Given the description of an element on the screen output the (x, y) to click on. 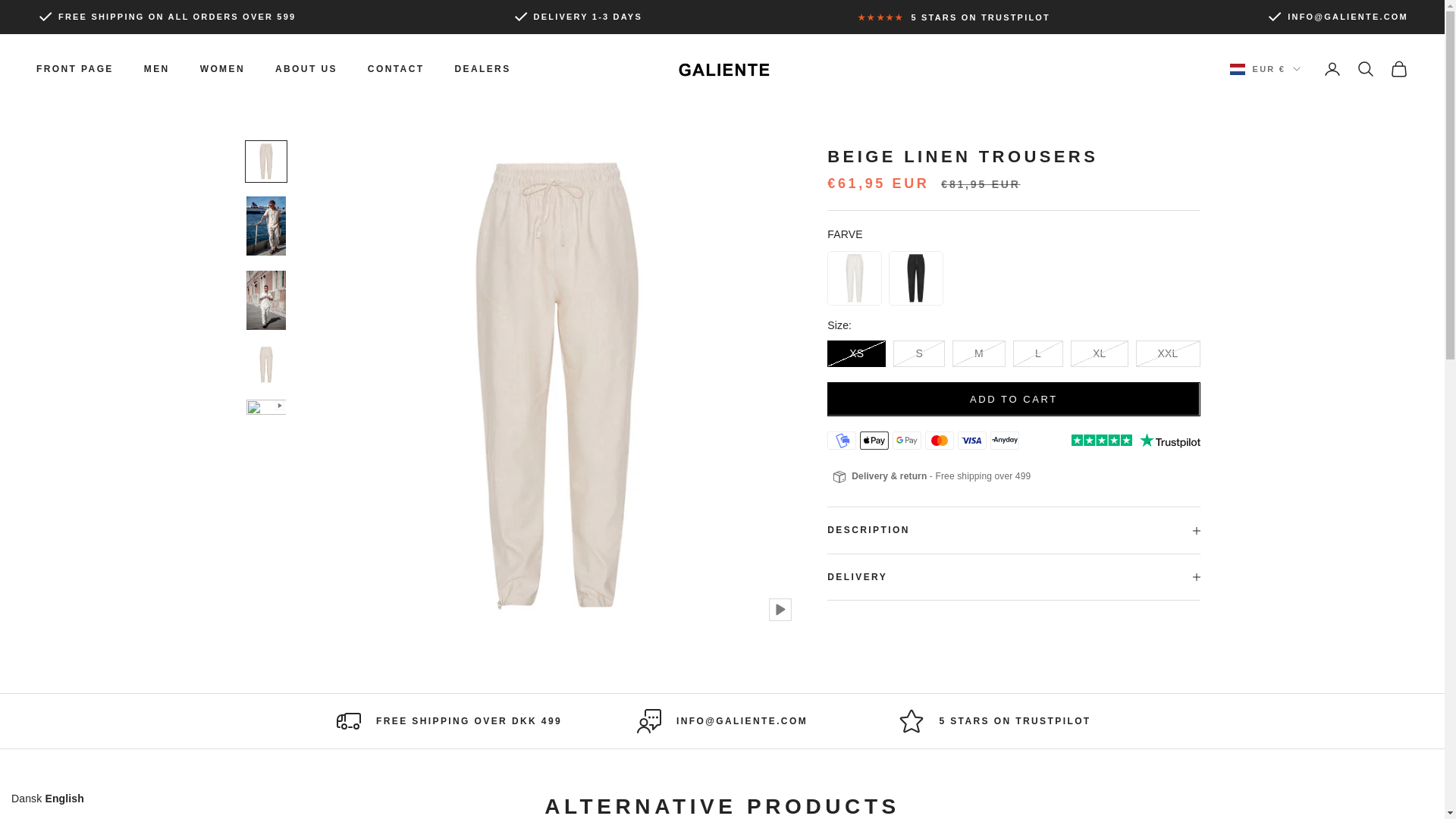
FRONT PAGE (74, 68)
ABOUT US (306, 68)
Open account page (1331, 68)
CONTACT (396, 68)
Open cart (1398, 68)
Open search (1365, 68)
galiente.com (721, 68)
DEALERS (482, 68)
